Given the description of an element on the screen output the (x, y) to click on. 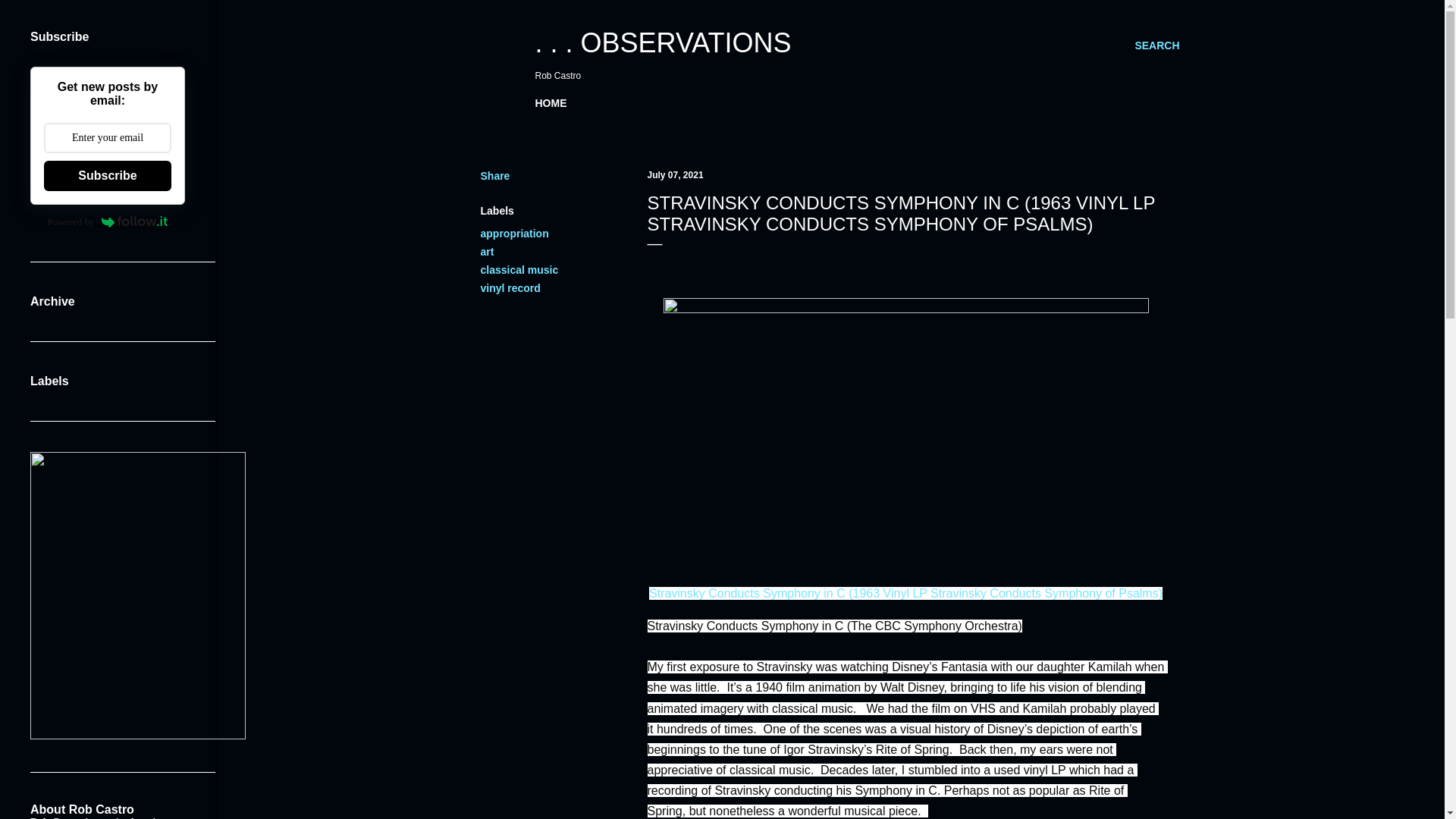
Subscribe (107, 175)
Share (495, 175)
SEARCH (1156, 45)
art (487, 251)
HOME (551, 102)
permanent link (675, 174)
appropriation (514, 233)
July 07, 2021 (675, 174)
classical music (519, 269)
Powered by (107, 221)
